Given the description of an element on the screen output the (x, y) to click on. 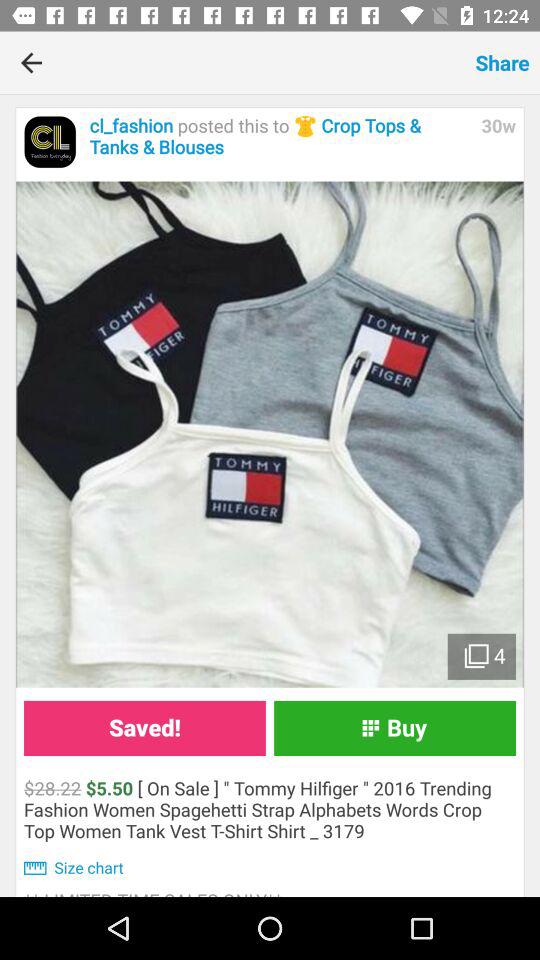
turn off icon above 28 22 5 (144, 728)
